Given the description of an element on the screen output the (x, y) to click on. 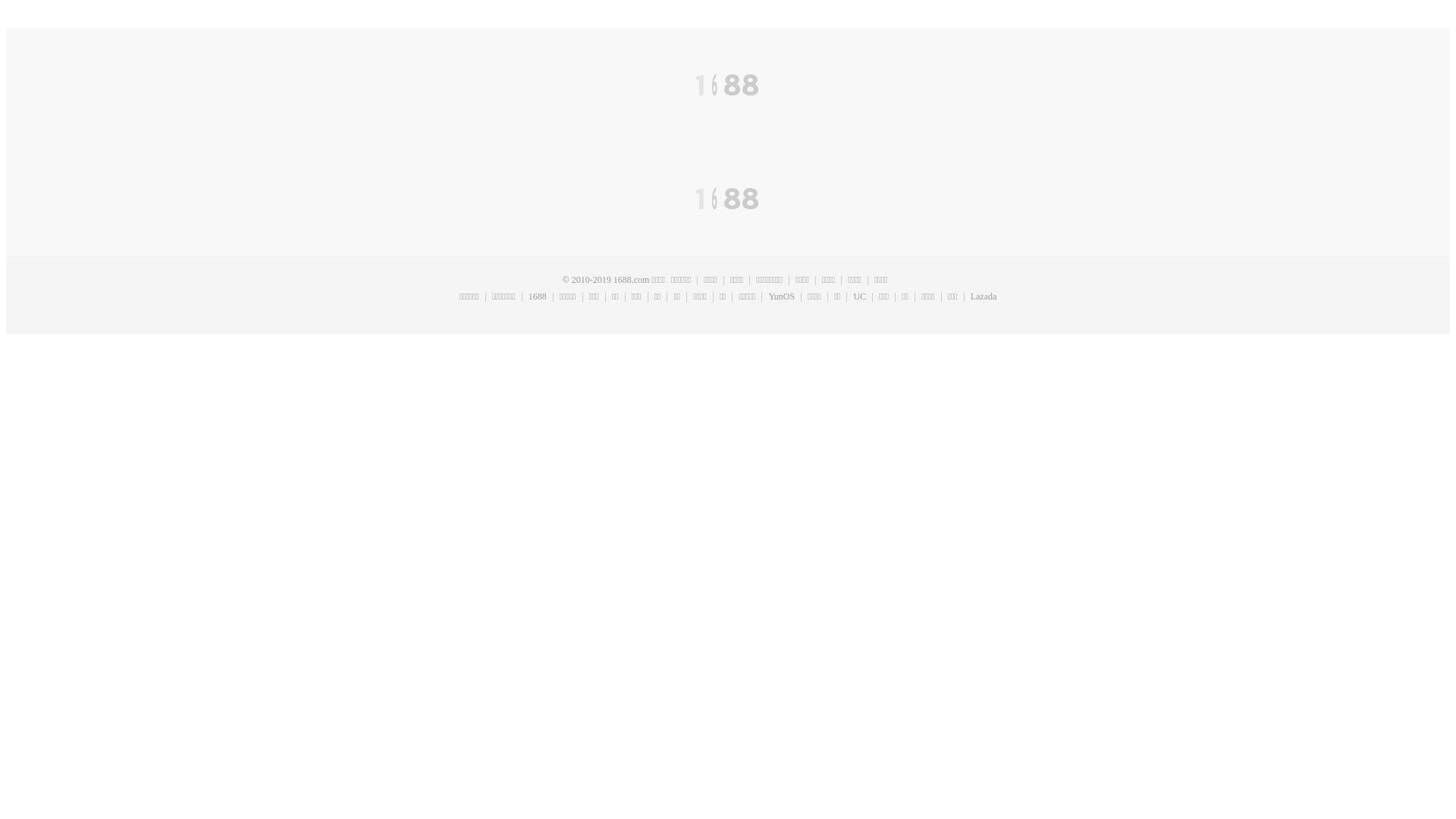
1688 Element type: text (536, 296)
UC Element type: text (859, 296)
YunOS Element type: text (780, 296)
Lazada Element type: text (983, 296)
